Given the description of an element on the screen output the (x, y) to click on. 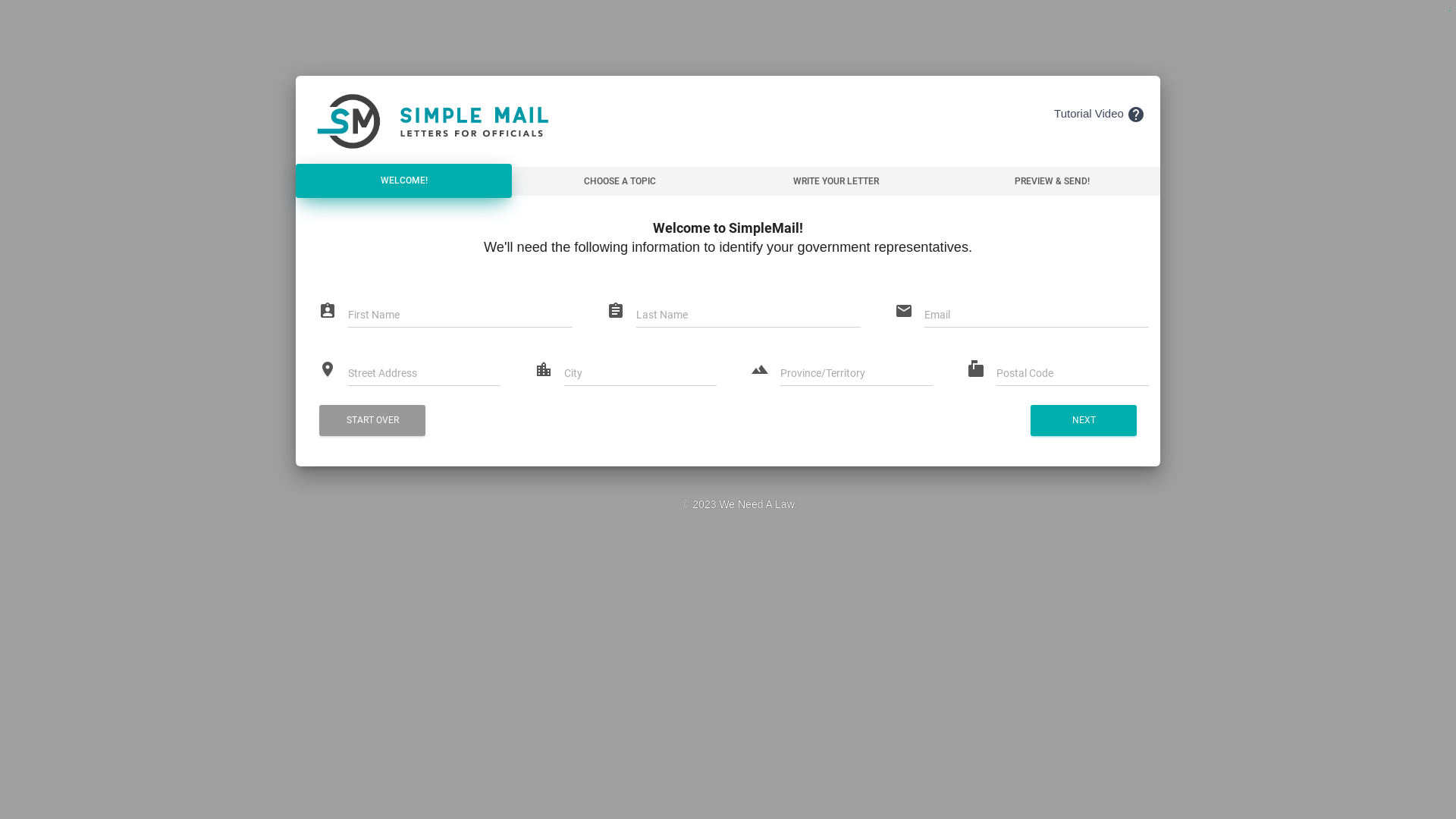
WELCOME! Element type: text (403, 180)
We Need A Law Element type: text (755, 504)
CHOOSE A TOPIC Element type: text (619, 180)
WRITE YOUR LETTER Element type: text (836, 180)
PREVIEW & SEND! Element type: text (1052, 180)
NEXT Element type: text (1083, 420)
START OVER Element type: text (372, 420)
Previous Element type: text (53, 15)
Tutorial Video help Element type: text (1099, 113)
